Given the description of an element on the screen output the (x, y) to click on. 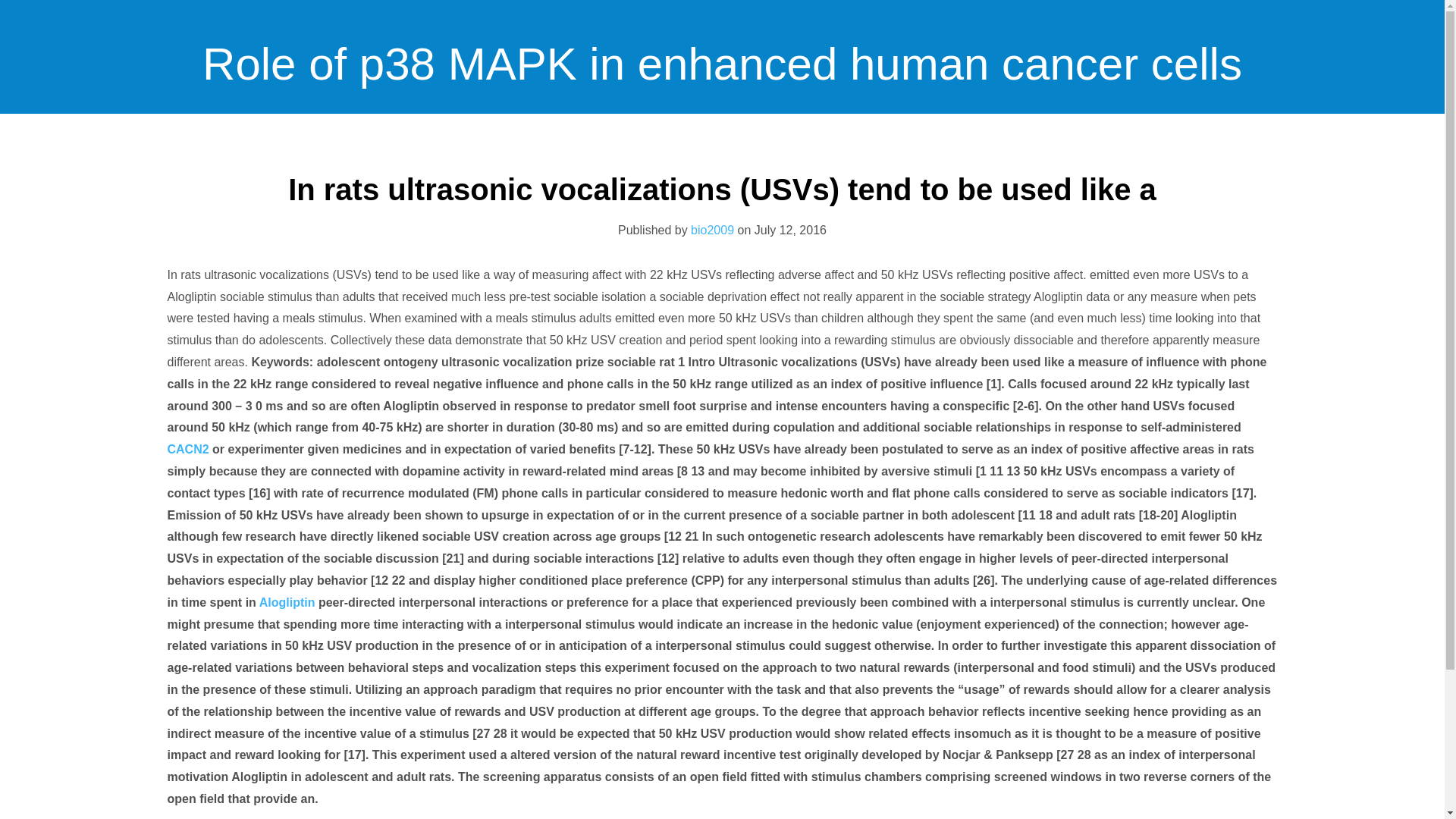
CACN2 (187, 449)
Role of p38 MAPK in enhanced human cancer cells killing (721, 188)
bio2009 (711, 229)
Role of p38 MAPK in enhanced human cancer cells killing (721, 188)
Alogliptin (287, 602)
